Given the description of an element on the screen output the (x, y) to click on. 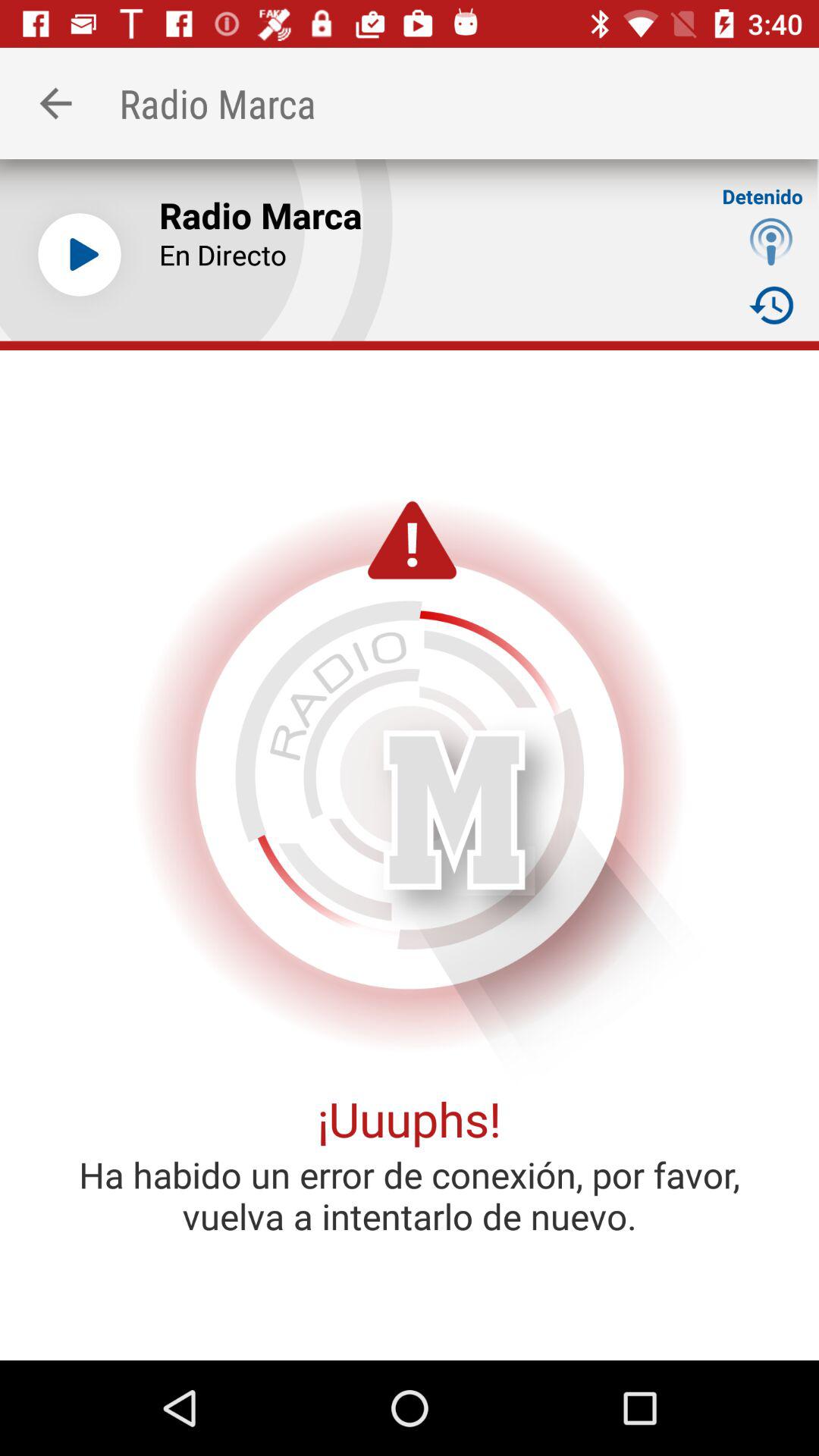
click icon next to the en directo icon (771, 241)
